Given the description of an element on the screen output the (x, y) to click on. 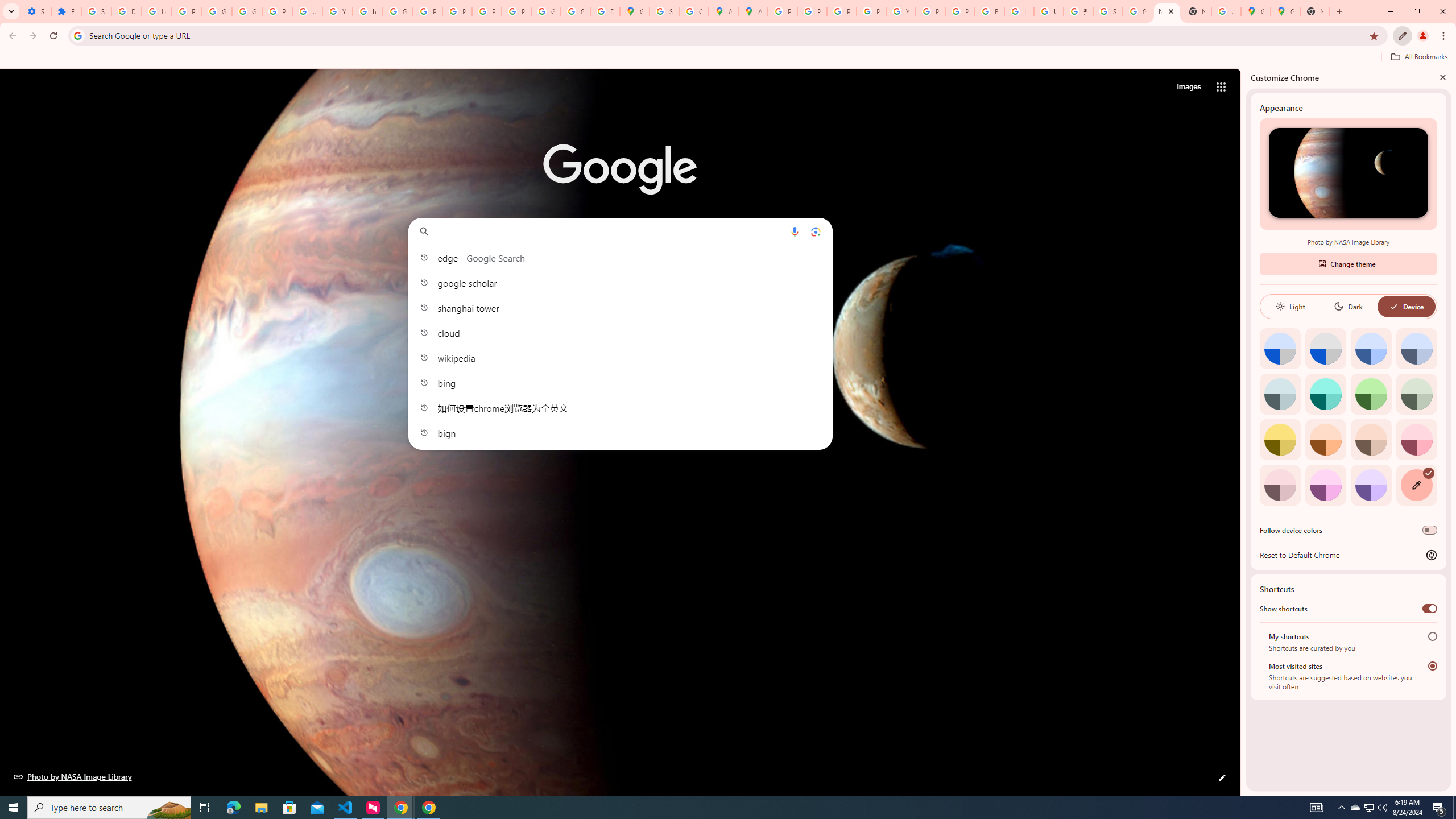
Fuchsia (1325, 484)
Google Account Help (216, 11)
Default color (1279, 348)
Apricot (1371, 439)
Grey default color (1325, 348)
https://scholar.google.com/ (367, 11)
Change theme (1348, 263)
Aqua (1325, 393)
Remove (801, 265)
Grey (1279, 393)
Cool grey (1416, 348)
